Given the description of an element on the screen output the (x, y) to click on. 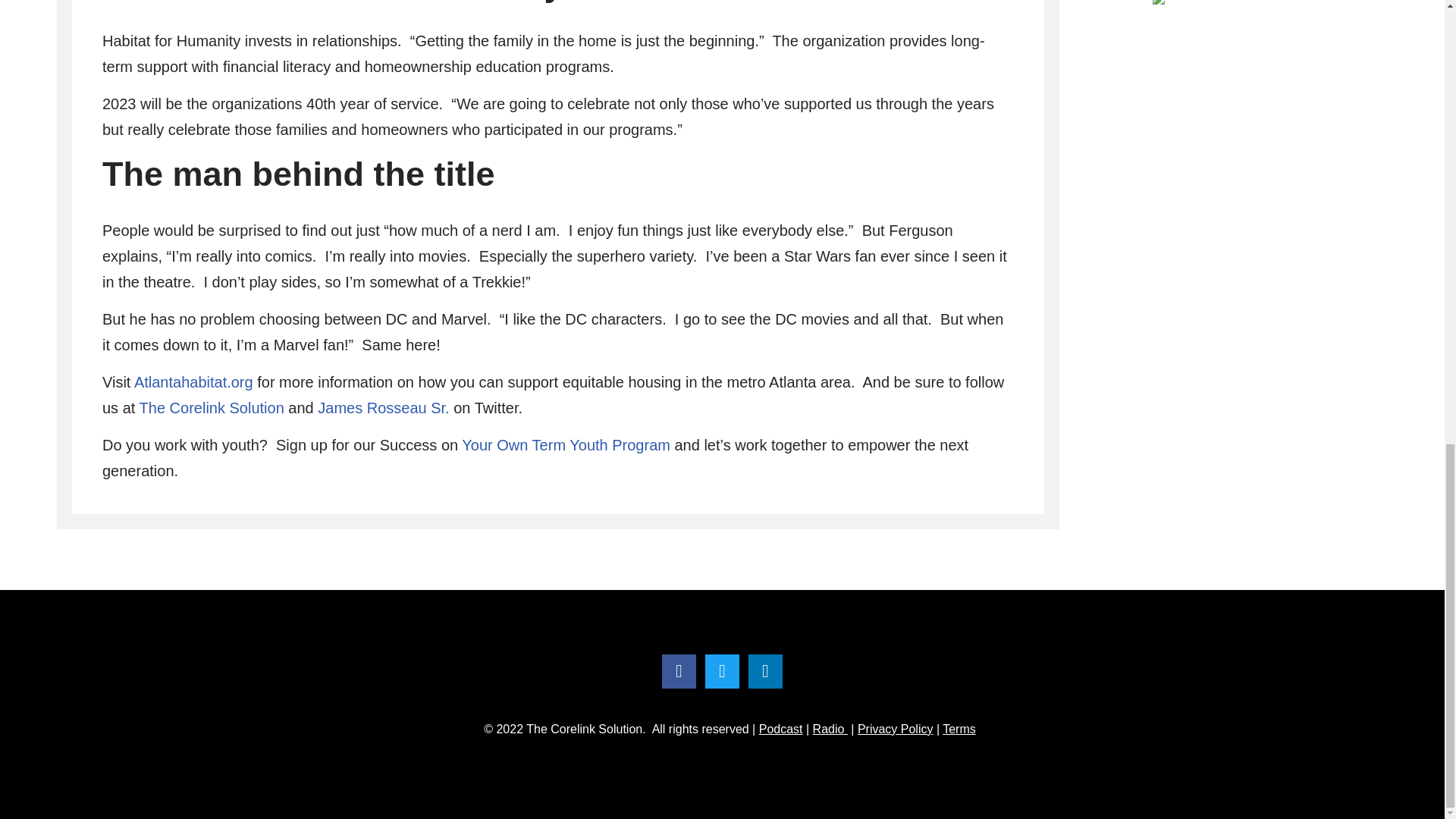
Your Own Term Youth Program (565, 444)
Atlantahabitat.org (193, 381)
Privacy Policy (895, 728)
The Corelink Solution (211, 407)
Radio (829, 728)
Terms (958, 728)
James Rosseau Sr. (382, 407)
Podcast (780, 728)
SUCCESSTOTD600x403 (1228, 2)
